Given the description of an element on the screen output the (x, y) to click on. 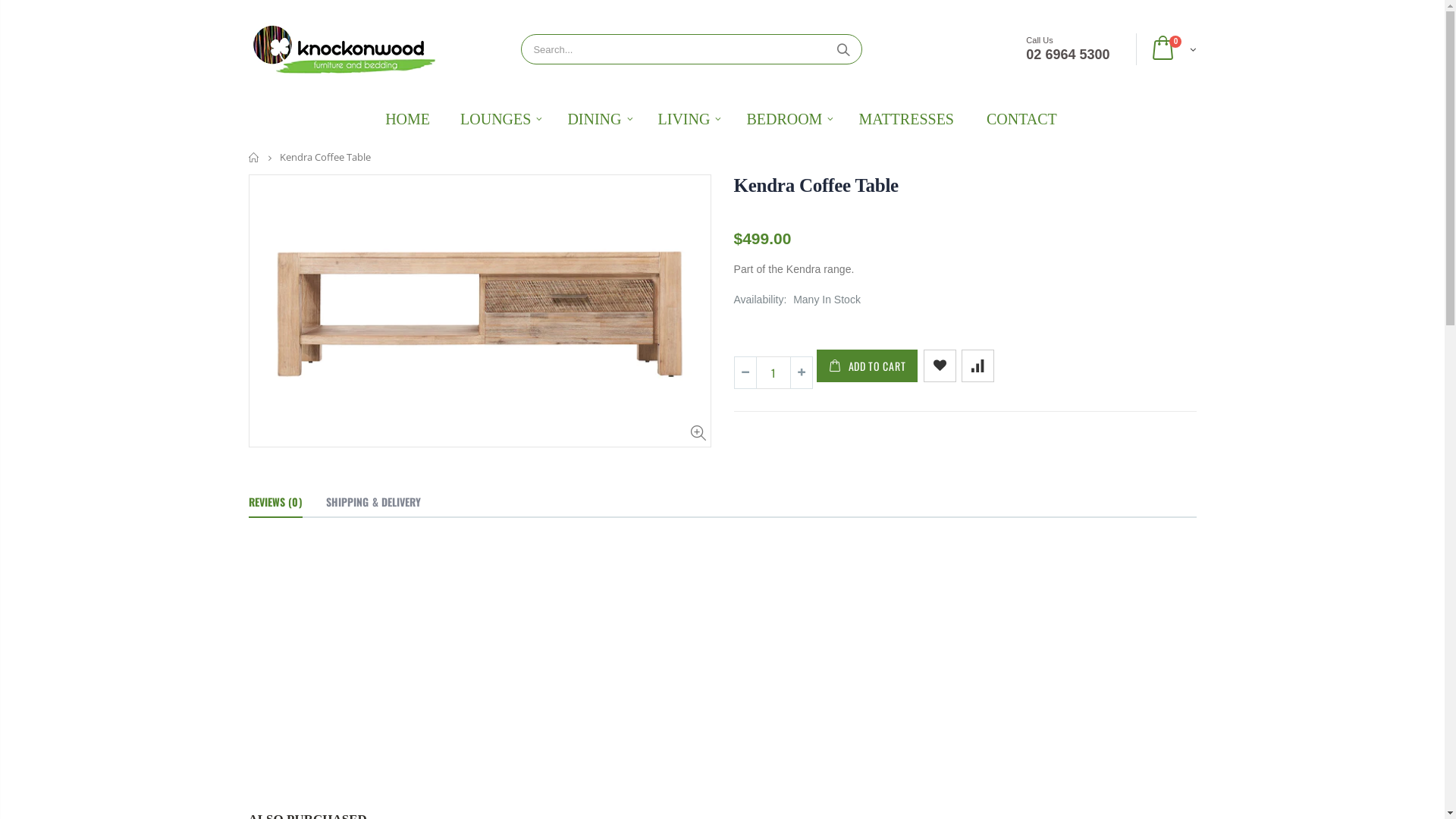
LOUNGES Element type: text (497, 118)
0 Element type: text (1169, 49)
LIVING Element type: text (686, 118)
BEDROOM Element type: text (785, 118)
DINING Element type: text (596, 118)
REVIEWS (0) Element type: text (275, 502)
CONTACT Element type: text (1021, 118)
Add to wishlist Element type: hover (939, 365)
Add to compare Element type: hover (977, 365)
Search Element type: text (842, 48)
Home Element type: text (254, 157)
Kendra Coffee Table Element type: text (816, 185)
ADD TO CART Element type: text (866, 365)
SHIPPING & DELIVERY Element type: text (373, 502)
MATTRESSES Element type: text (906, 118)
HOME Element type: text (407, 118)
